Given the description of an element on the screen output the (x, y) to click on. 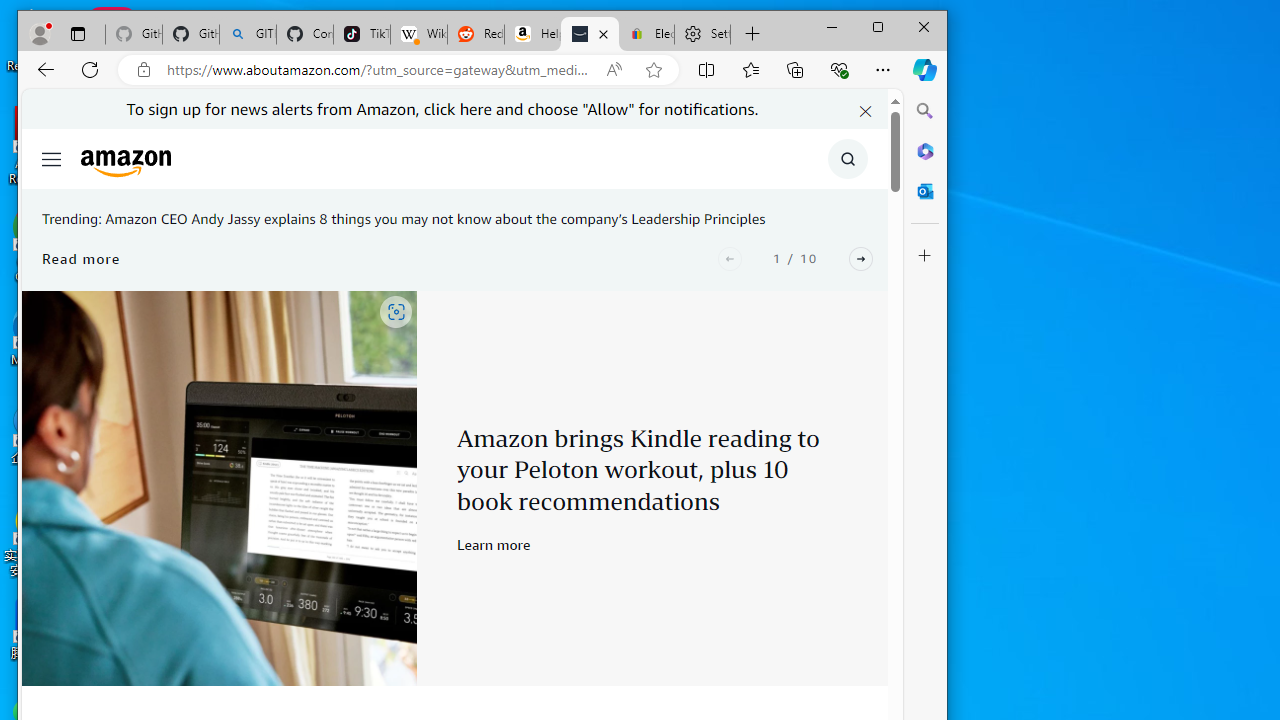
Reddit - Dive into anything (476, 34)
Previous (730, 258)
